Given the description of an element on the screen output the (x, y) to click on. 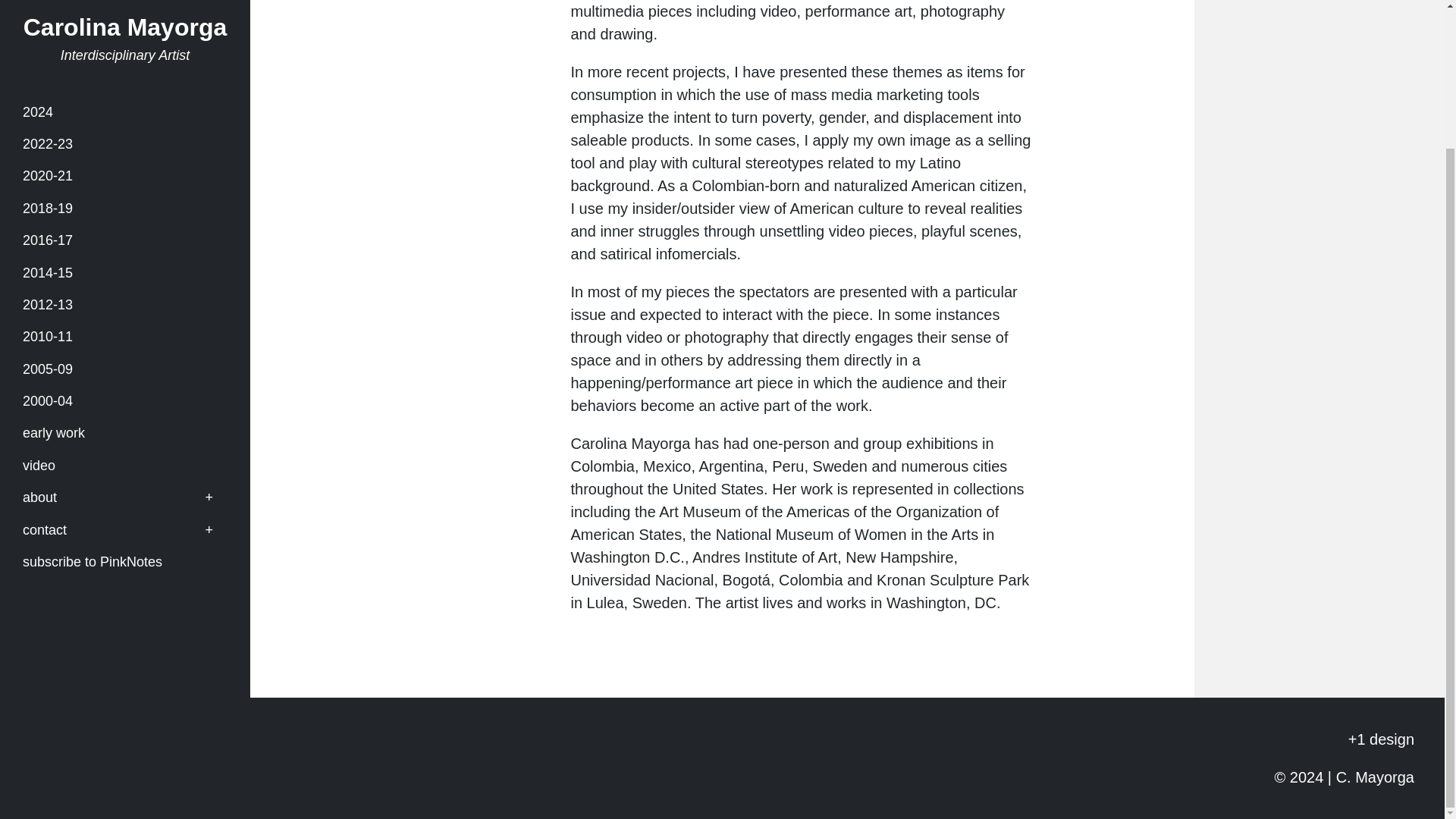
2000-04 (125, 230)
video (125, 295)
contact (125, 358)
early work (125, 262)
2012-13 (125, 133)
2005-09 (125, 197)
subscribe to PinkNotes (125, 391)
2018-19 (125, 38)
2020-21 (125, 10)
2014-15 (125, 101)
